Given the description of an element on the screen output the (x, y) to click on. 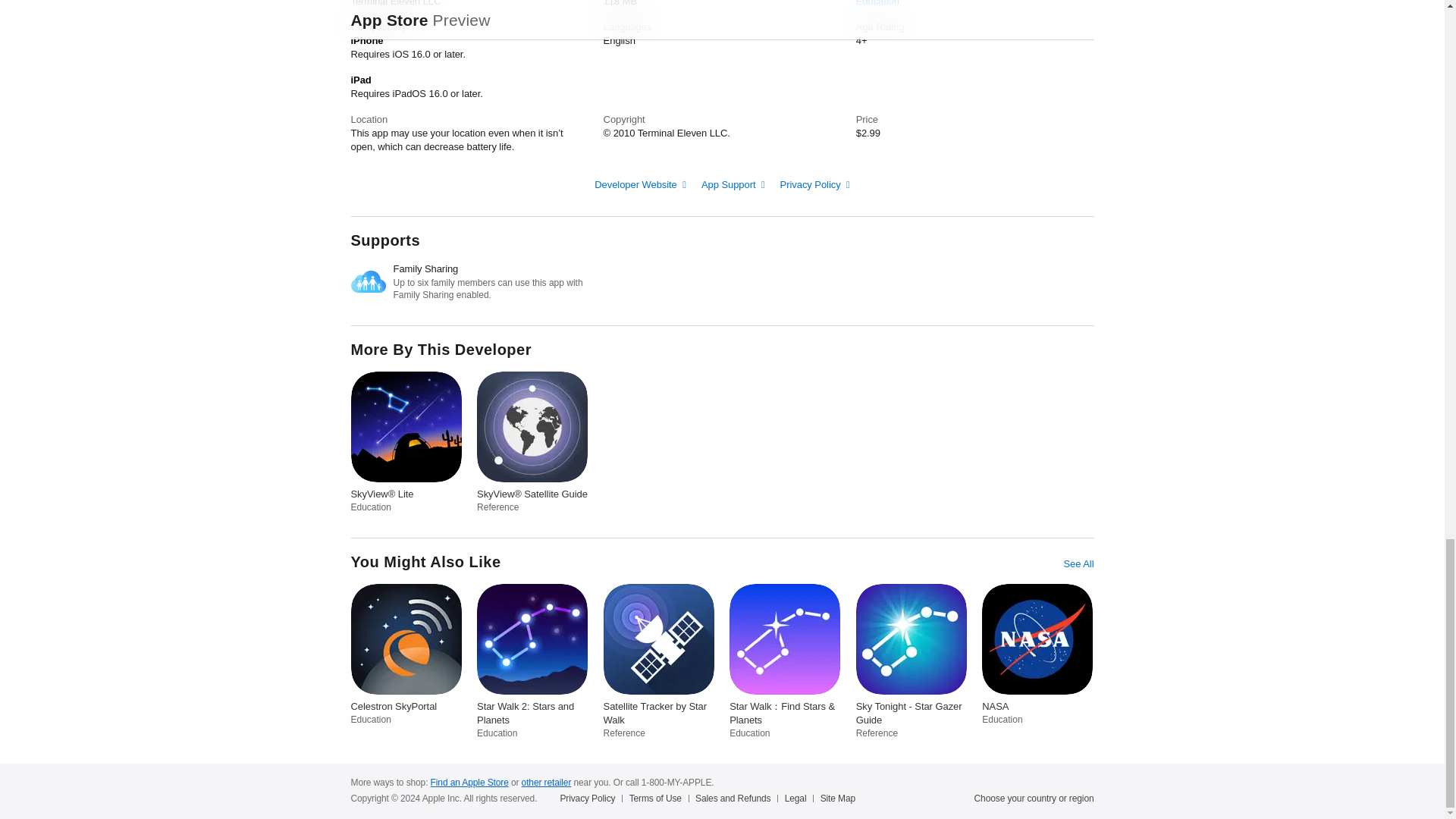
Choose your country or region (1034, 798)
